Given the description of an element on the screen output the (x, y) to click on. 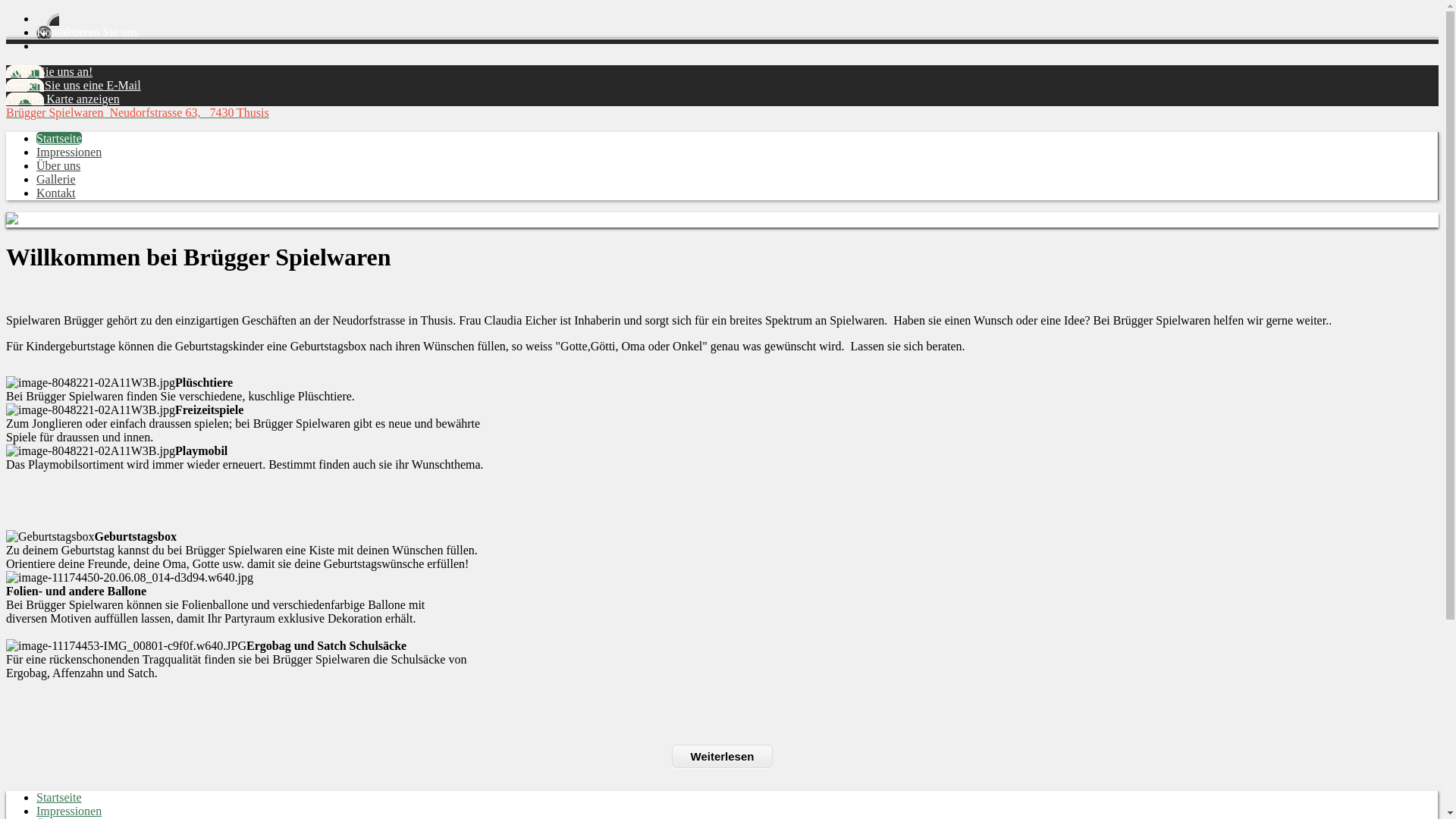
Gallerie Element type: text (55, 178)
Impressionen Element type: text (68, 151)
Senden Sie uns eine E-Mail Element type: text (73, 84)
Auf der Karte anzeigen Element type: text (62, 98)
Startseite Element type: text (58, 796)
Weiterlesen Element type: text (722, 756)
Impressionen Element type: text (68, 810)
Rufen Sie uns an! Element type: text (49, 71)
Kontakt Element type: text (55, 192)
Startseite Element type: text (58, 137)
